Given the description of an element on the screen output the (x, y) to click on. 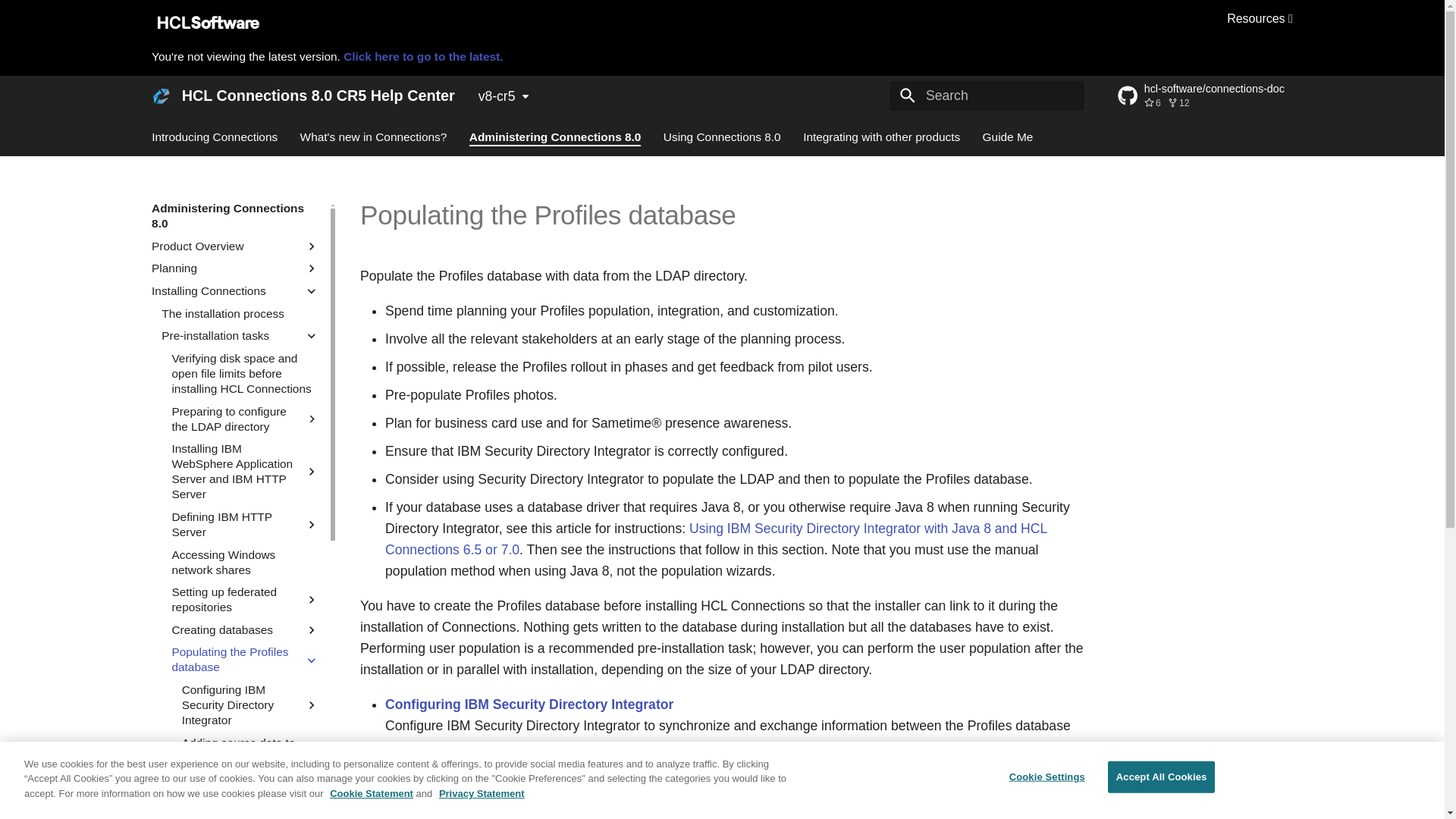
Resources (1259, 18)
Integrating with other products (881, 136)
Administering Connections 8.0 (234, 215)
Product Overview (227, 246)
v8-cr5 (503, 96)
Go to repository (1205, 96)
Introducing Connections (214, 136)
Click here to go to the latest. (422, 56)
Using Connections 8.0 (721, 136)
What's new in Connections? (372, 136)
